Given the description of an element on the screen output the (x, y) to click on. 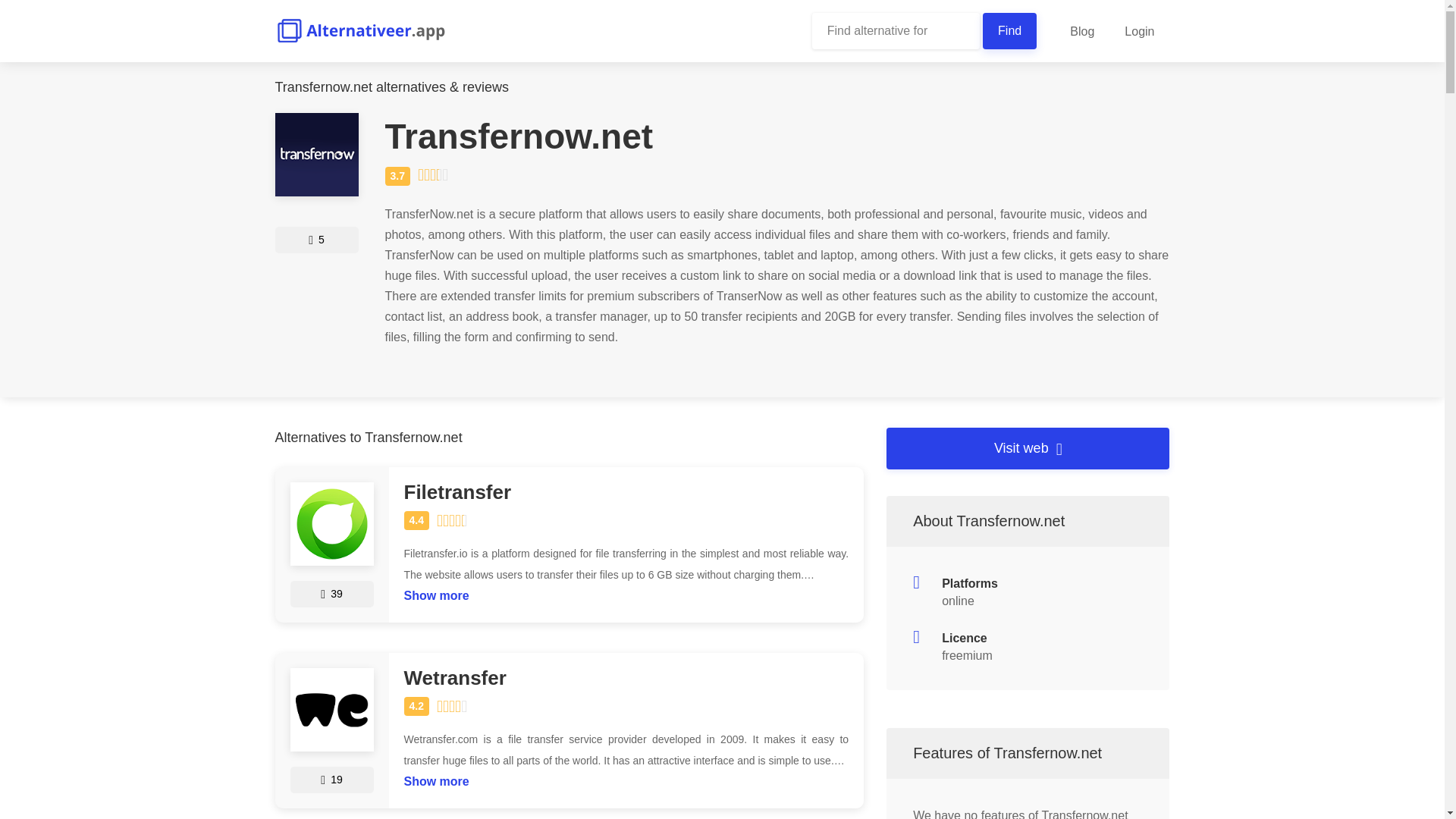
Login (1139, 31)
Filetransfer (625, 492)
Find (1009, 31)
Find (1009, 31)
Visit web (1027, 448)
Blog (1081, 31)
Show more (435, 777)
Wetransfer (625, 678)
Show more (435, 591)
